Given the description of an element on the screen output the (x, y) to click on. 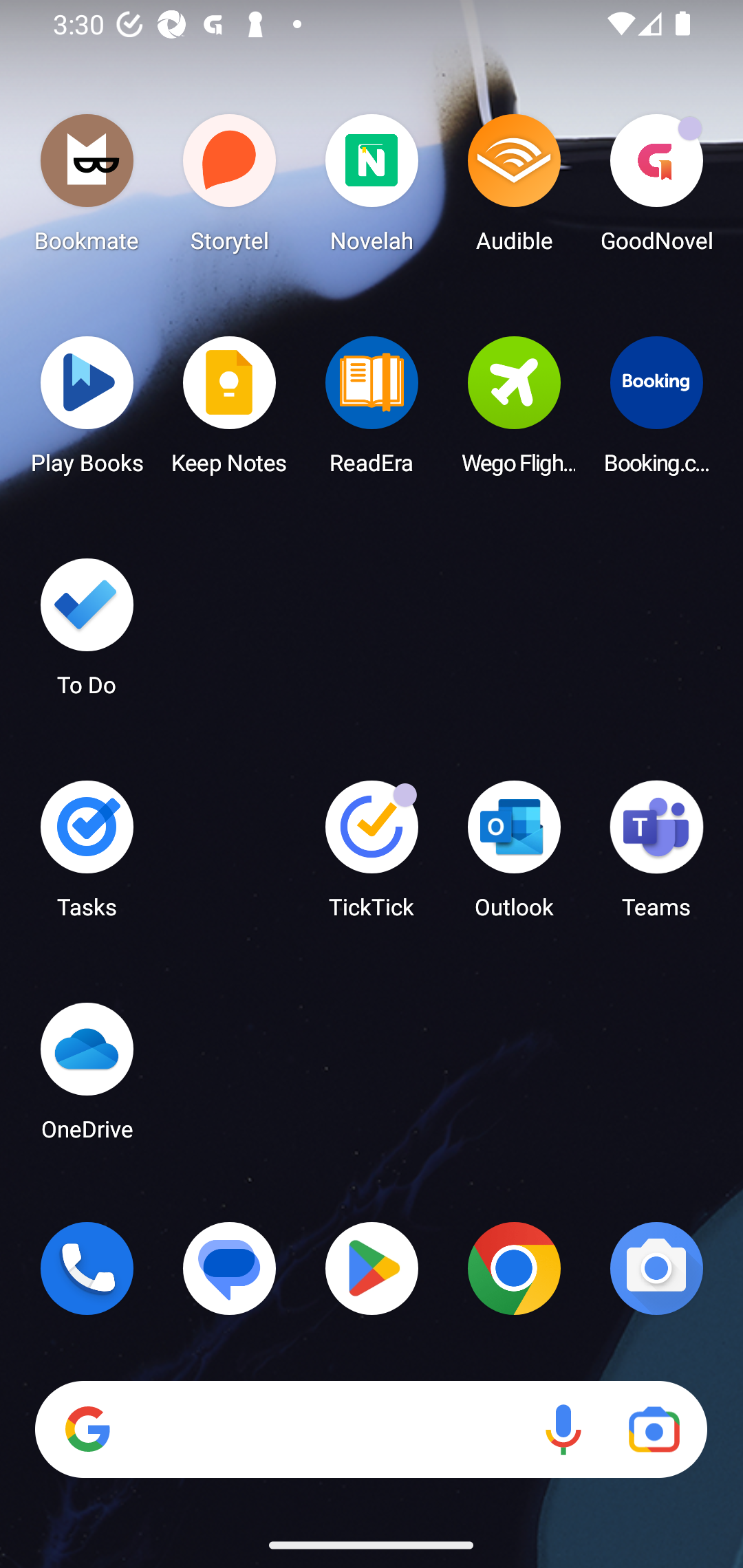
Bookmate (86, 188)
Storytel (229, 188)
Novelah (371, 188)
Audible (513, 188)
GoodNovel GoodNovel has 1 notification (656, 188)
Play Books (86, 410)
Keep Notes (229, 410)
ReadEra (371, 410)
Wego Flights & Hotels (513, 410)
Booking.com (656, 410)
To Do (86, 633)
Tasks (86, 854)
TickTick TickTick has 3 notifications (371, 854)
Outlook (513, 854)
Teams (656, 854)
OneDrive (86, 1076)
Phone (86, 1268)
Messages (229, 1268)
Play Store (371, 1268)
Chrome (513, 1268)
Camera (656, 1268)
Search Voice search Google Lens (370, 1429)
Voice search (562, 1429)
Google Lens (653, 1429)
